Given the description of an element on the screen output the (x, y) to click on. 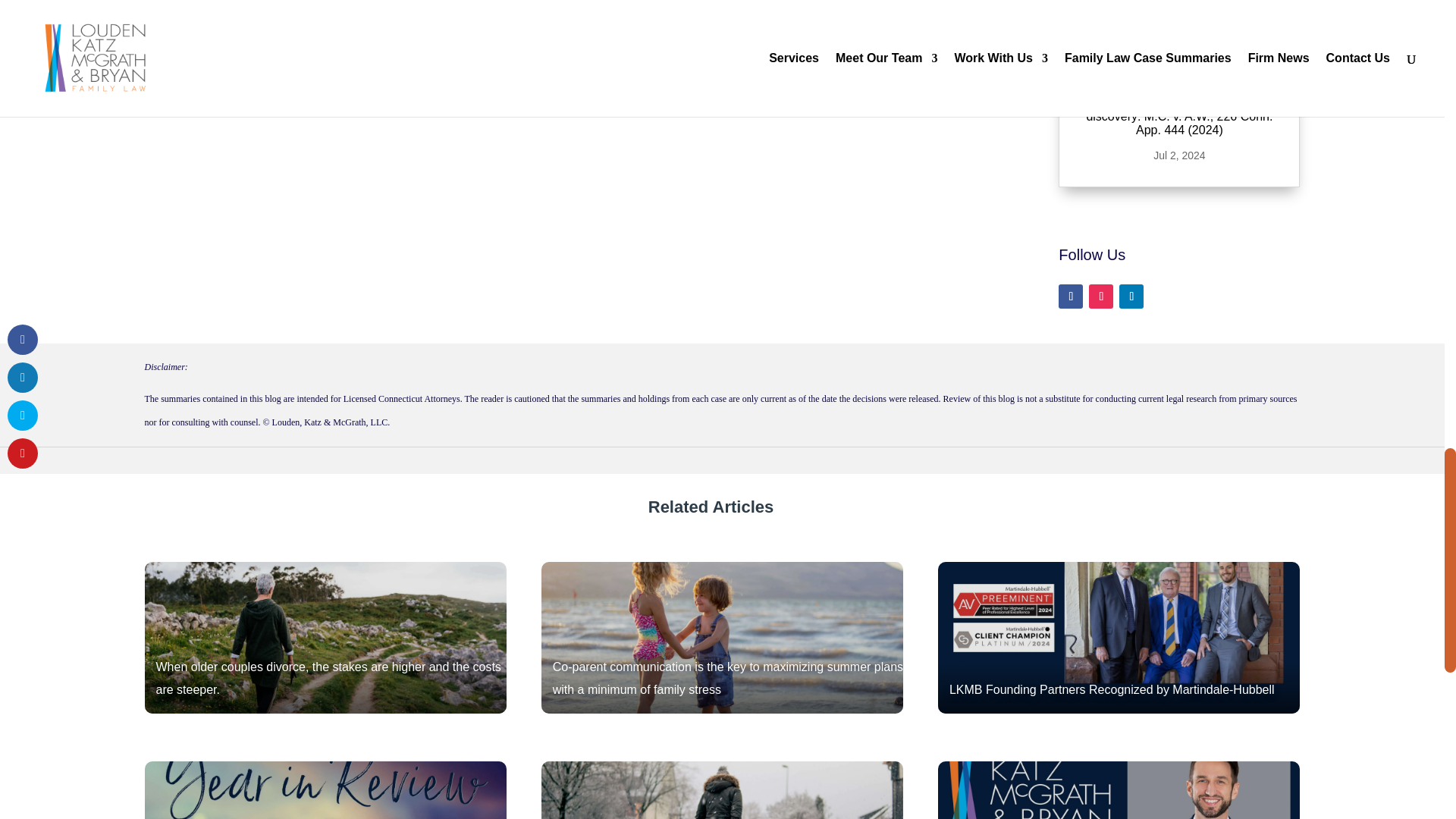
2023: Looking Back at a Good Year (325, 790)
Follow on Facebook (1070, 296)
New support law went into effect January 1, 2024 (722, 790)
Follow on LinkedIn (1130, 296)
LKMB Founding Partners Recognized by Martindale-Hubbell (1118, 637)
Follow on Instagram (1101, 296)
